Given the description of an element on the screen output the (x, y) to click on. 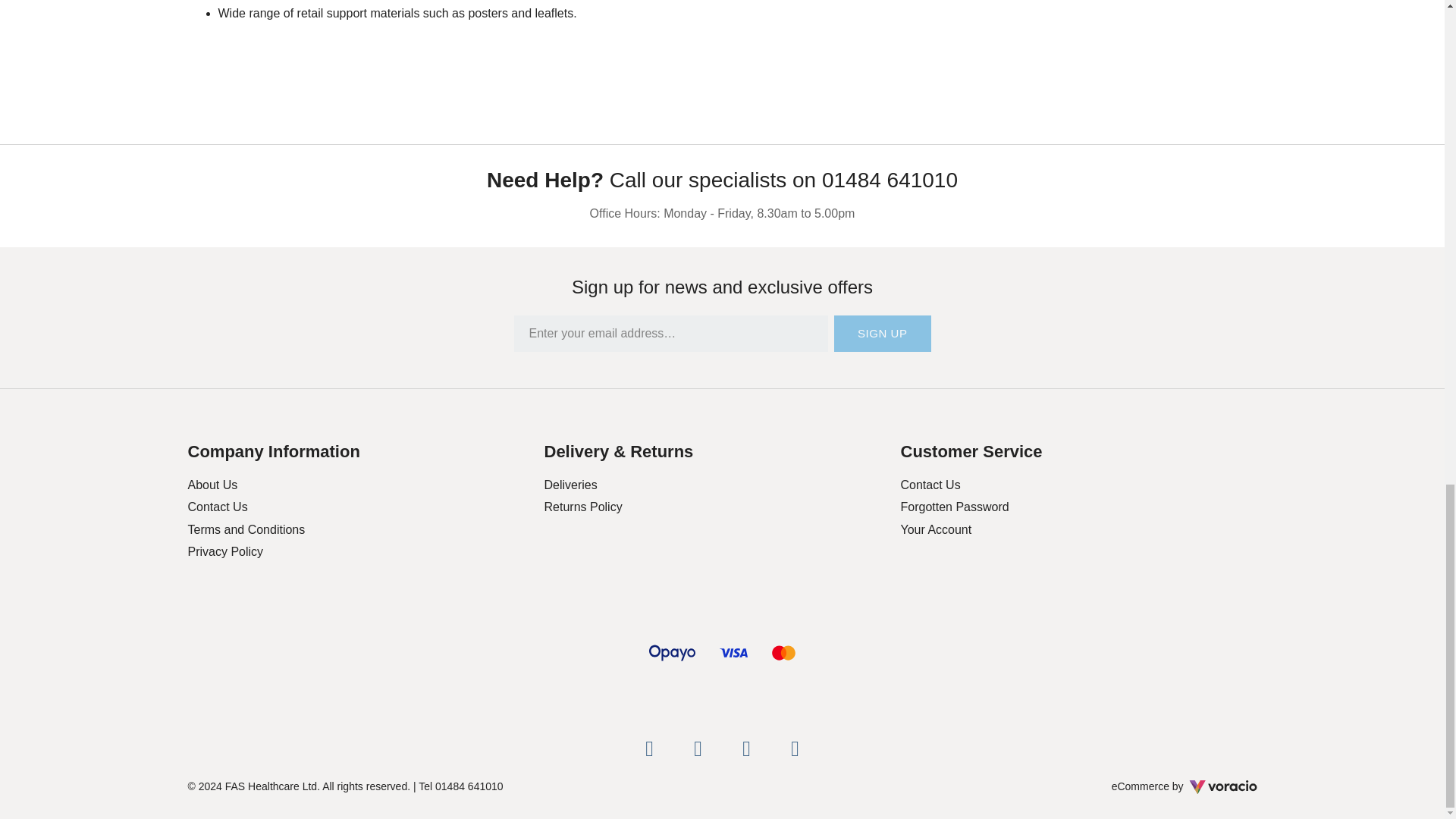
Blog (794, 748)
Visa (733, 652)
Instagram profile (746, 748)
Twitter profile (697, 748)
Opayo (672, 652)
Facebook profile (648, 748)
Mastercard (783, 652)
